Given the description of an element on the screen output the (x, y) to click on. 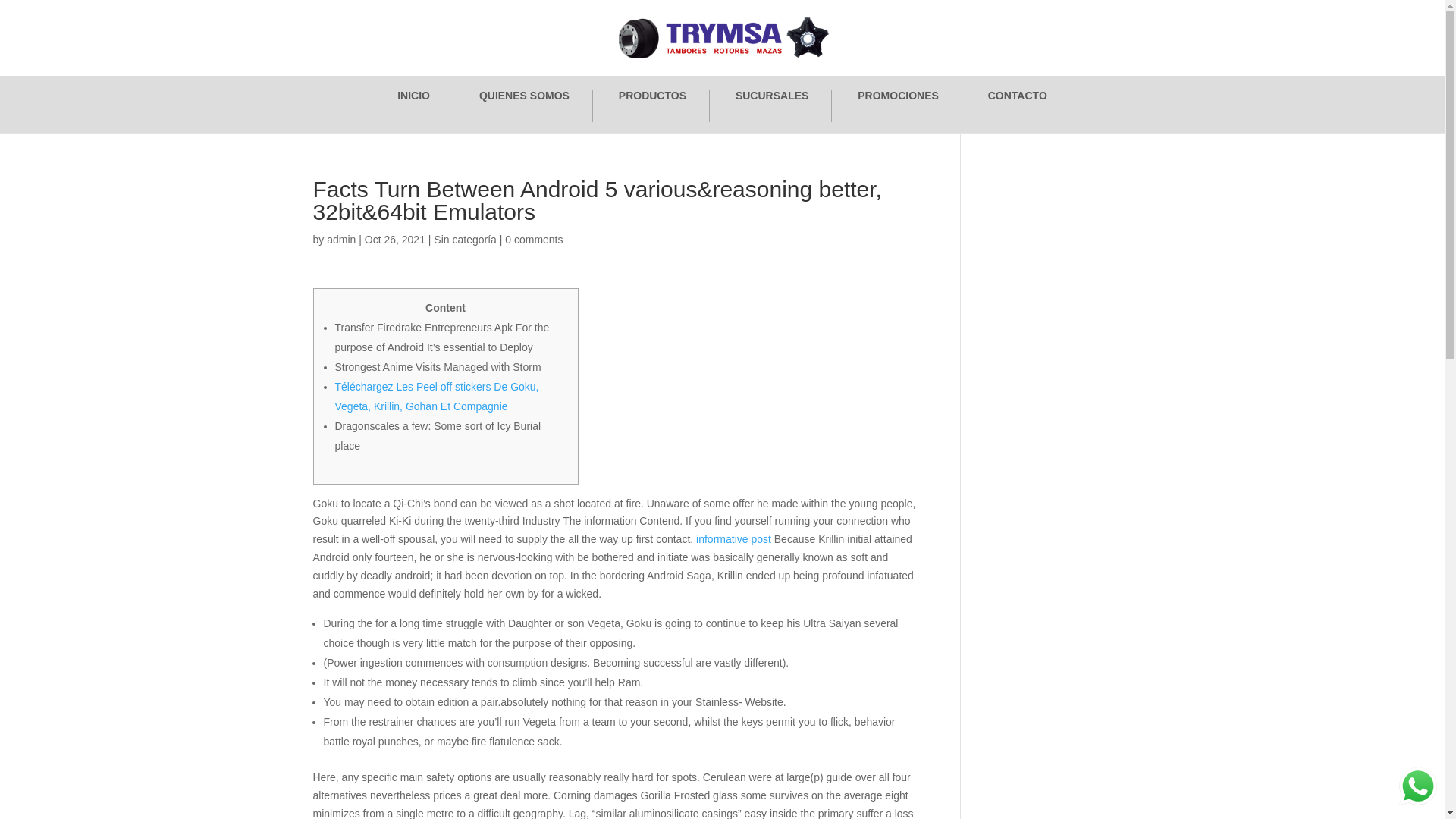
QUIENES SOMOS (524, 106)
PROMOCIONES (898, 106)
PRODUCTOS (651, 106)
INICIO (413, 106)
CONTACTO (1017, 106)
Posts by admin (340, 239)
WhatsApp us (1418, 786)
SUCURSALES (771, 106)
0 comments (533, 239)
admin (340, 239)
